Given the description of an element on the screen output the (x, y) to click on. 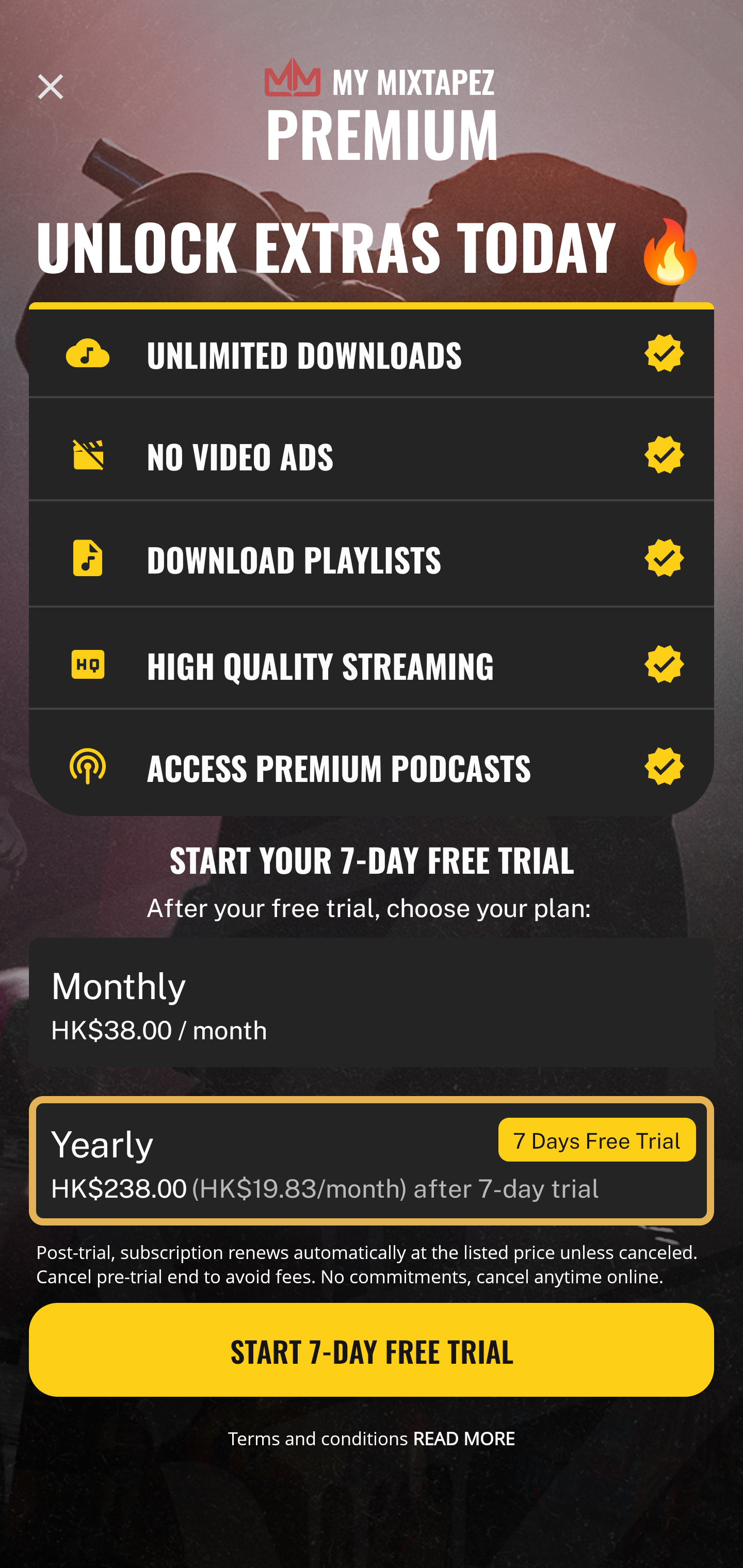
Description (50, 86)
Monthly HK$38.00 / month (371, 1002)
START 7-DAY FREE TRIAL (371, 1350)
Terms and conditions READ MORE (371, 1437)
